Given the description of an element on the screen output the (x, y) to click on. 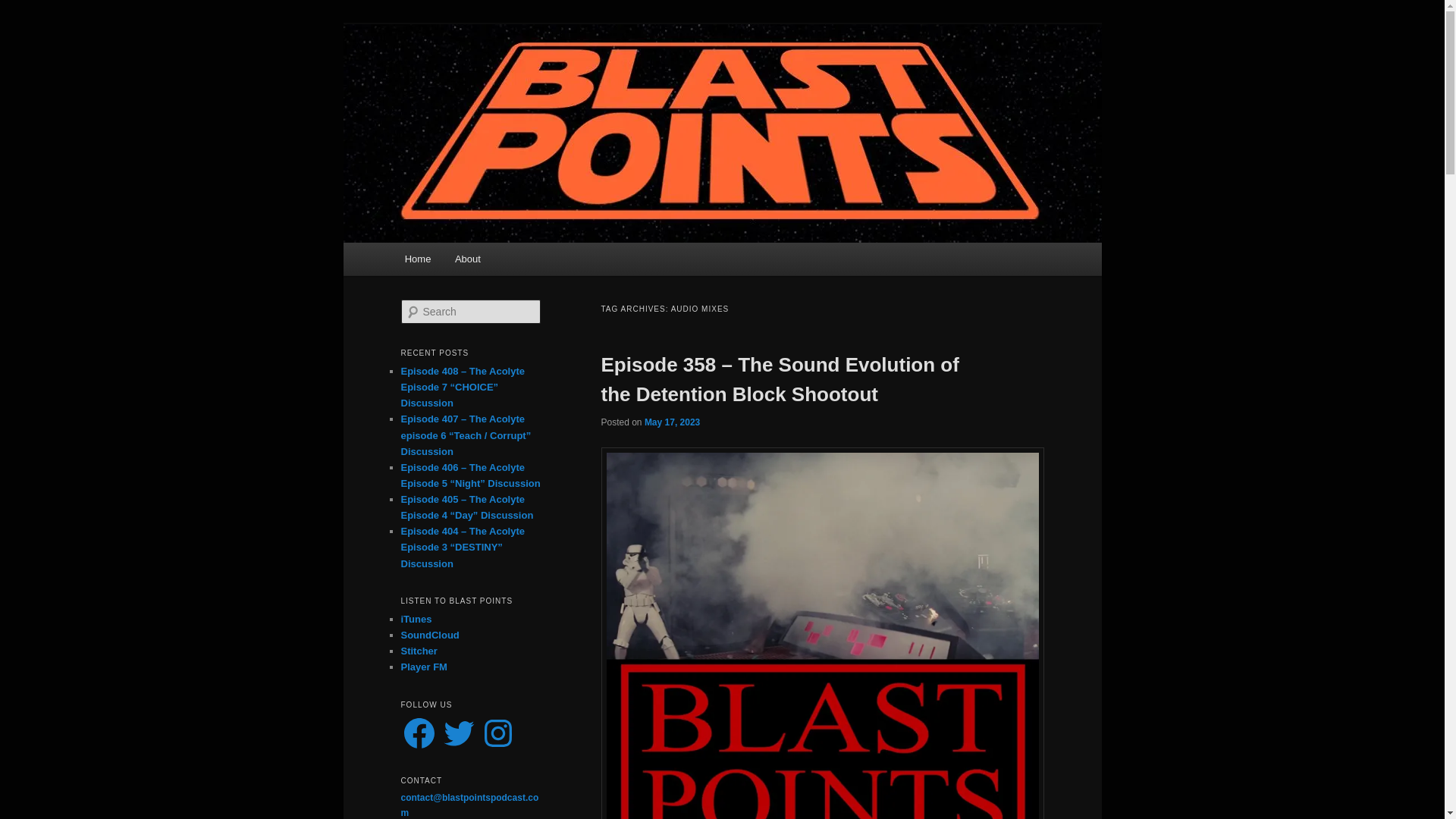
Search (21, 11)
8:03 am (672, 421)
Blast Points Podcast (513, 78)
Home (417, 258)
May 17, 2023 (672, 421)
About (467, 258)
